Given the description of an element on the screen output the (x, y) to click on. 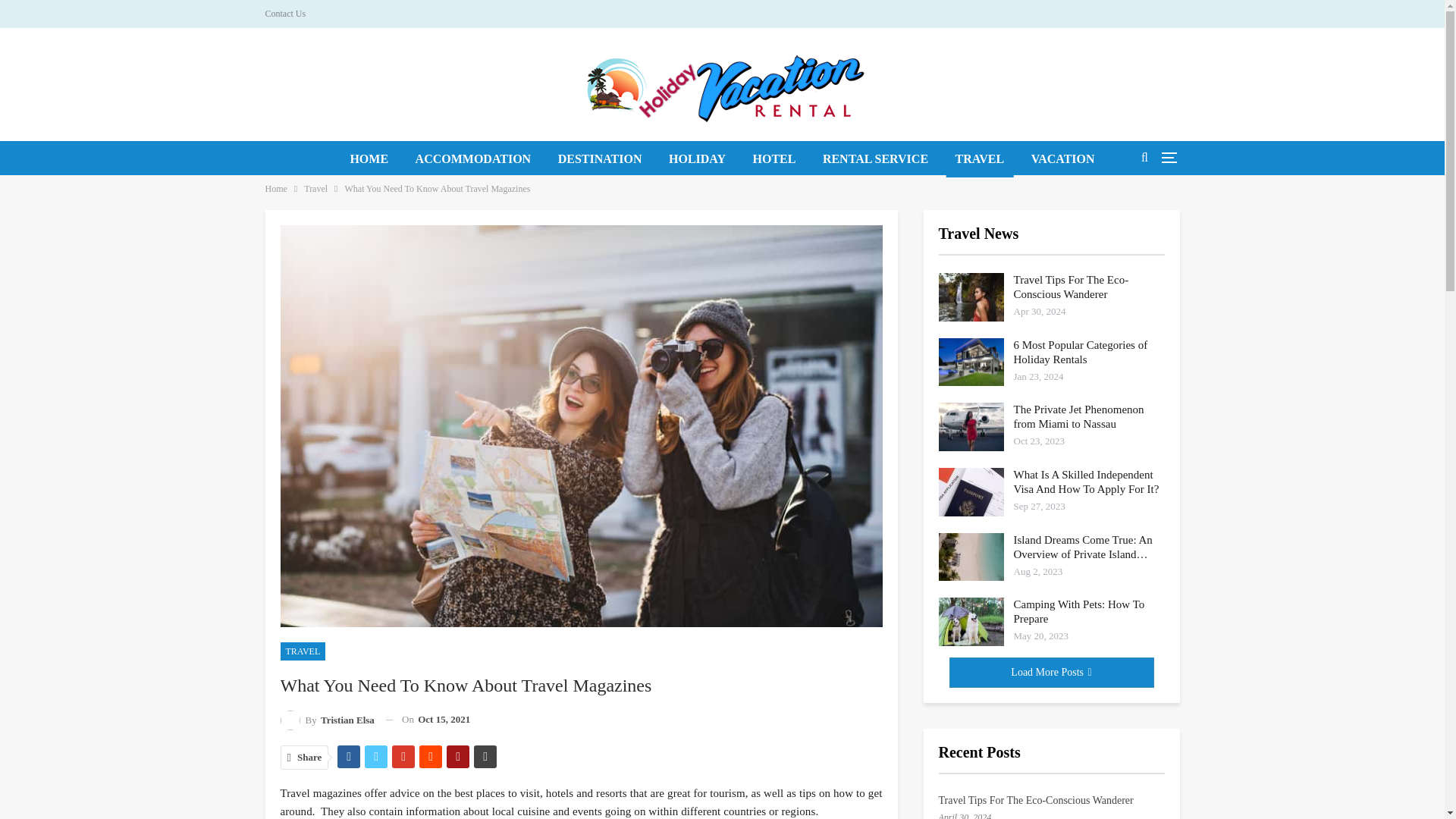
Contact Us (284, 13)
TRAVEL (979, 158)
HOTEL (773, 158)
6 Most Popular Categories of Holiday Rentals (971, 362)
VACATION (1062, 158)
ACCOMMODATION (473, 158)
Home (275, 188)
TRAVEL (303, 651)
RENTAL SERVICE (875, 158)
Travel Tips For The Eco-Conscious Wanderer (971, 296)
HOLIDAY (697, 158)
DESTINATION (599, 158)
Travel (315, 188)
Browse Author Articles (327, 720)
HOME (368, 158)
